Given the description of an element on the screen output the (x, y) to click on. 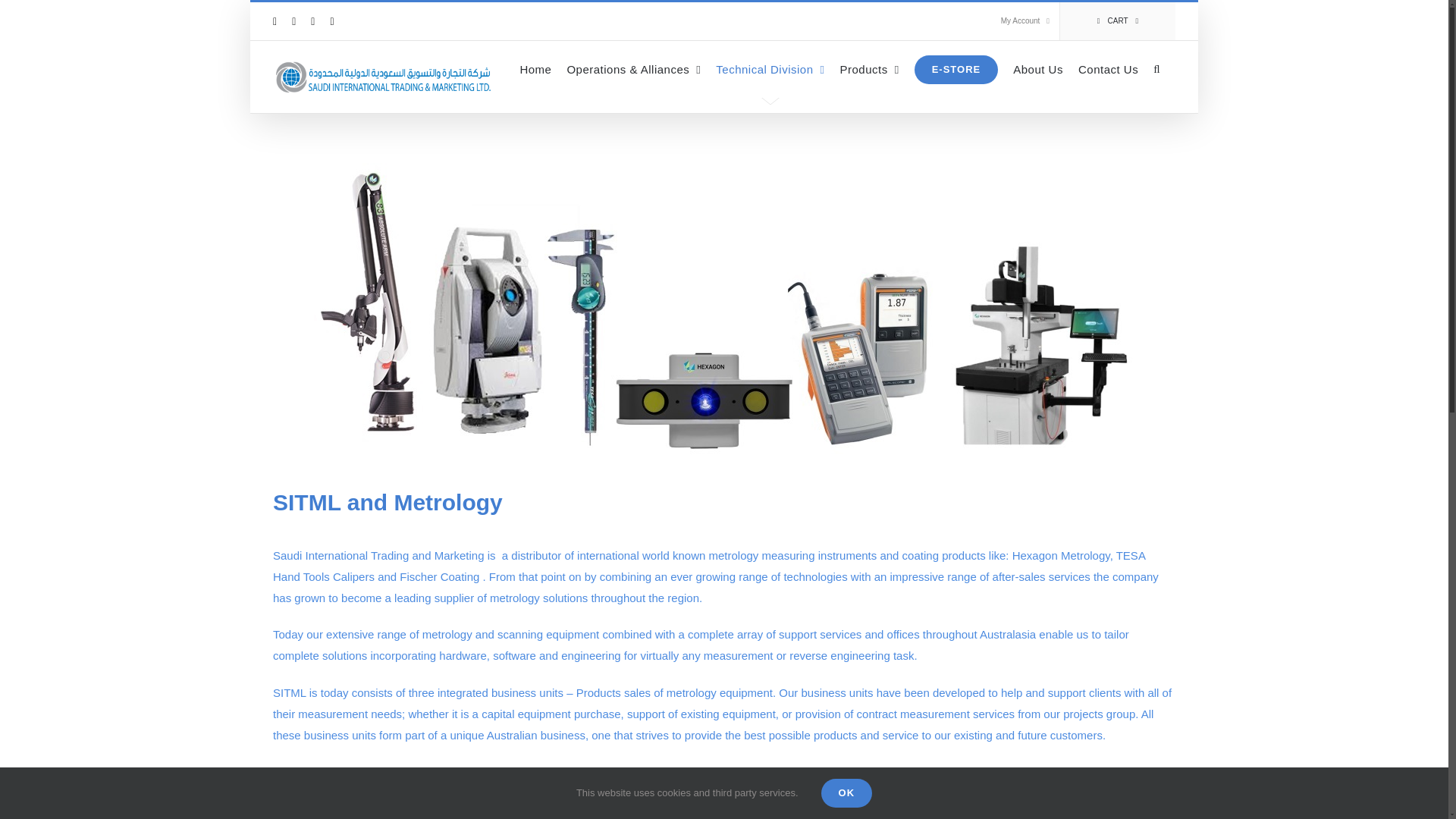
Log In (1056, 165)
CART (1116, 21)
Products (869, 68)
Technical Division (770, 68)
My Account (1025, 21)
